Given the description of an element on the screen output the (x, y) to click on. 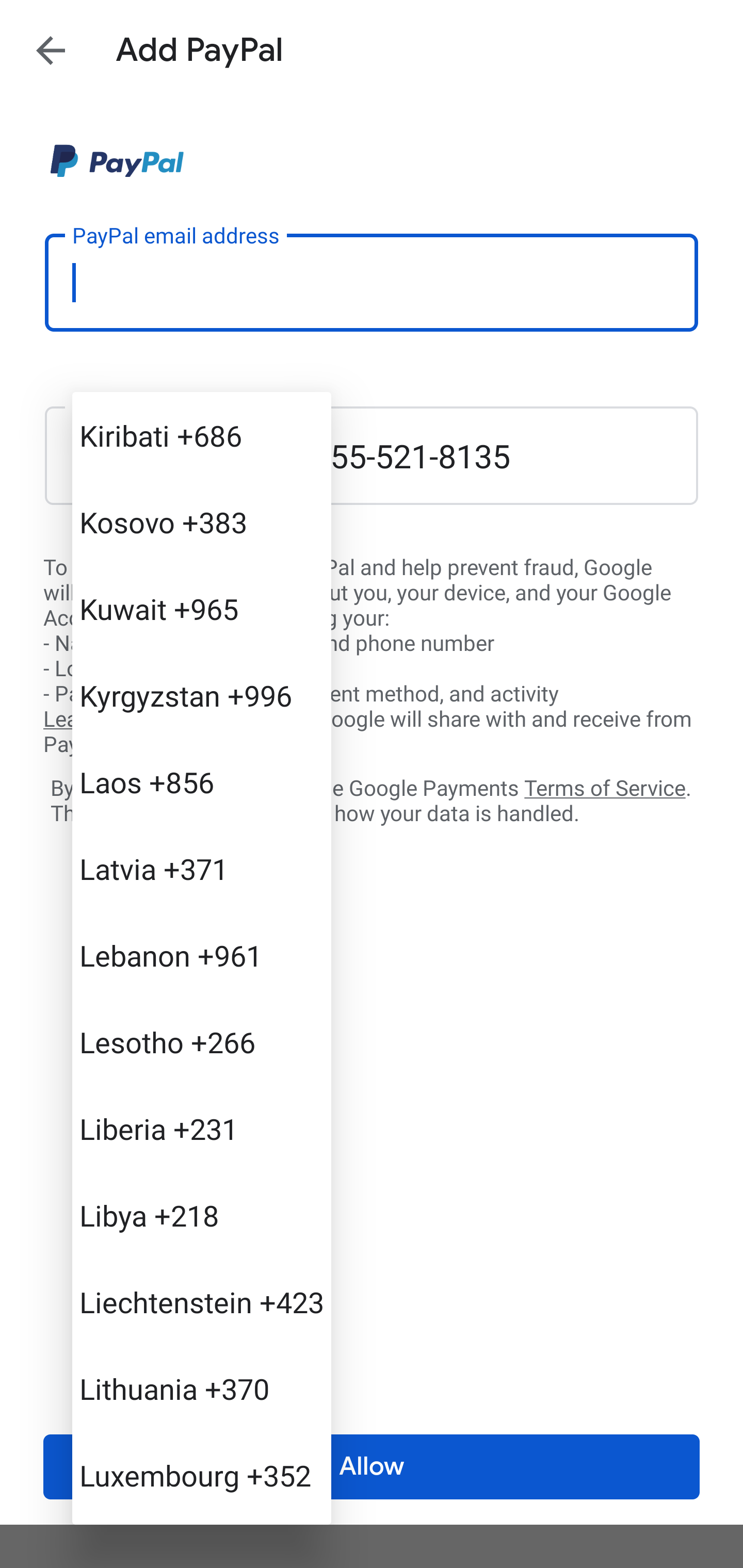
Kiribati +686 (201, 435)
Kosovo +383 (201, 522)
Kuwait +965 (201, 609)
Kyrgyzstan +996 (201, 695)
Laos +856 (201, 781)
Latvia +371 (201, 868)
Lebanon +961 (201, 955)
Lesotho +266 (201, 1041)
Liberia +231 (201, 1128)
Libya +218 (201, 1215)
Liechtenstein +423 (201, 1302)
Lithuania +370 (201, 1388)
Luxembourg +352 (201, 1474)
